Given the description of an element on the screen output the (x, y) to click on. 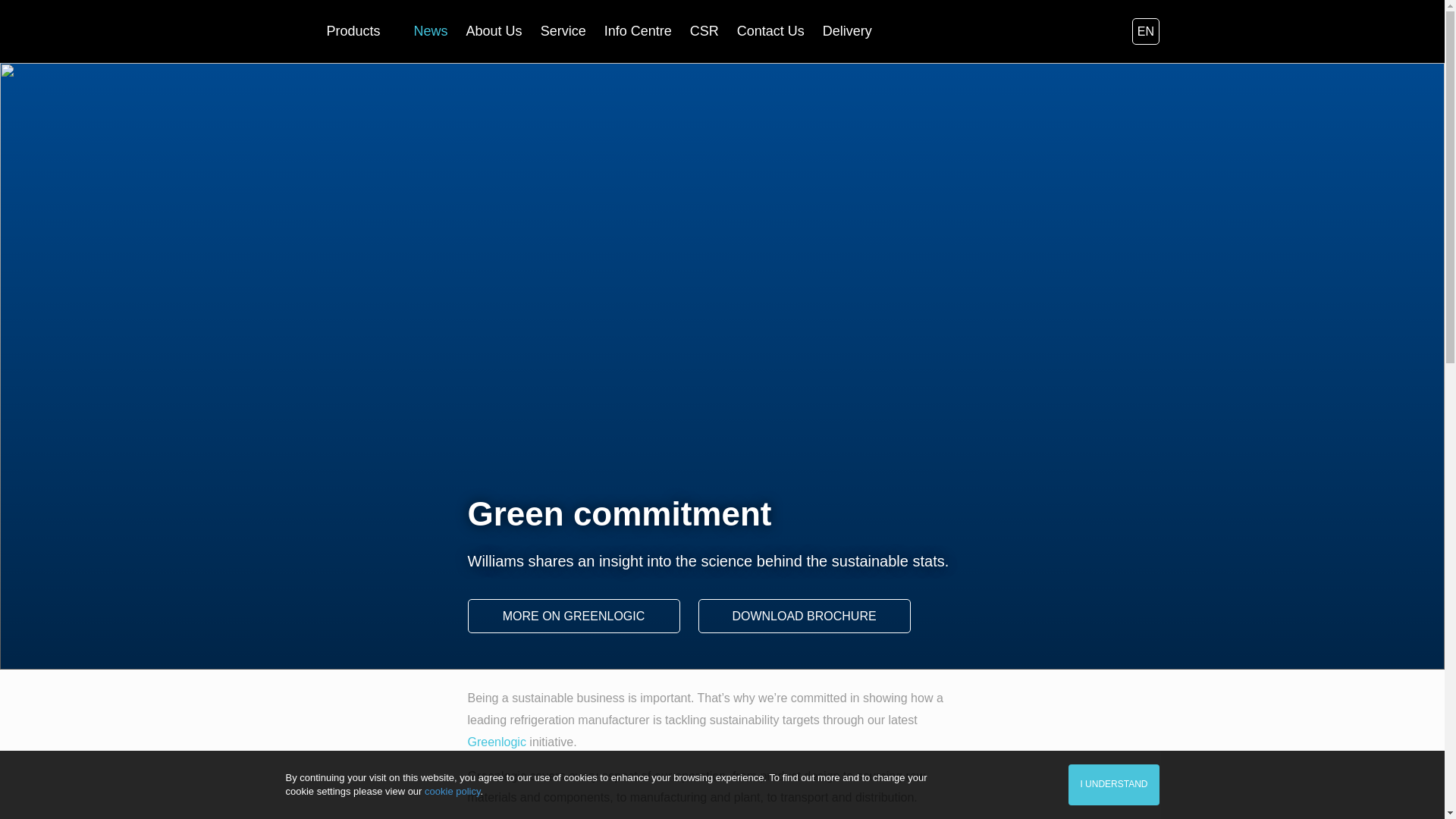
News (430, 31)
MORE ON GREENLOGIC (573, 615)
Delivery (847, 31)
More on Greenlogic (496, 741)
Products (360, 31)
Service (563, 31)
cookie policy (452, 790)
Info Centre (637, 31)
EN (1145, 31)
DOWNLOAD BROCHURE (803, 615)
CSR (704, 31)
About Us (493, 31)
I UNDERSTAND (1113, 784)
Contact Us (770, 31)
Greenlogic (496, 741)
